Given the description of an element on the screen output the (x, y) to click on. 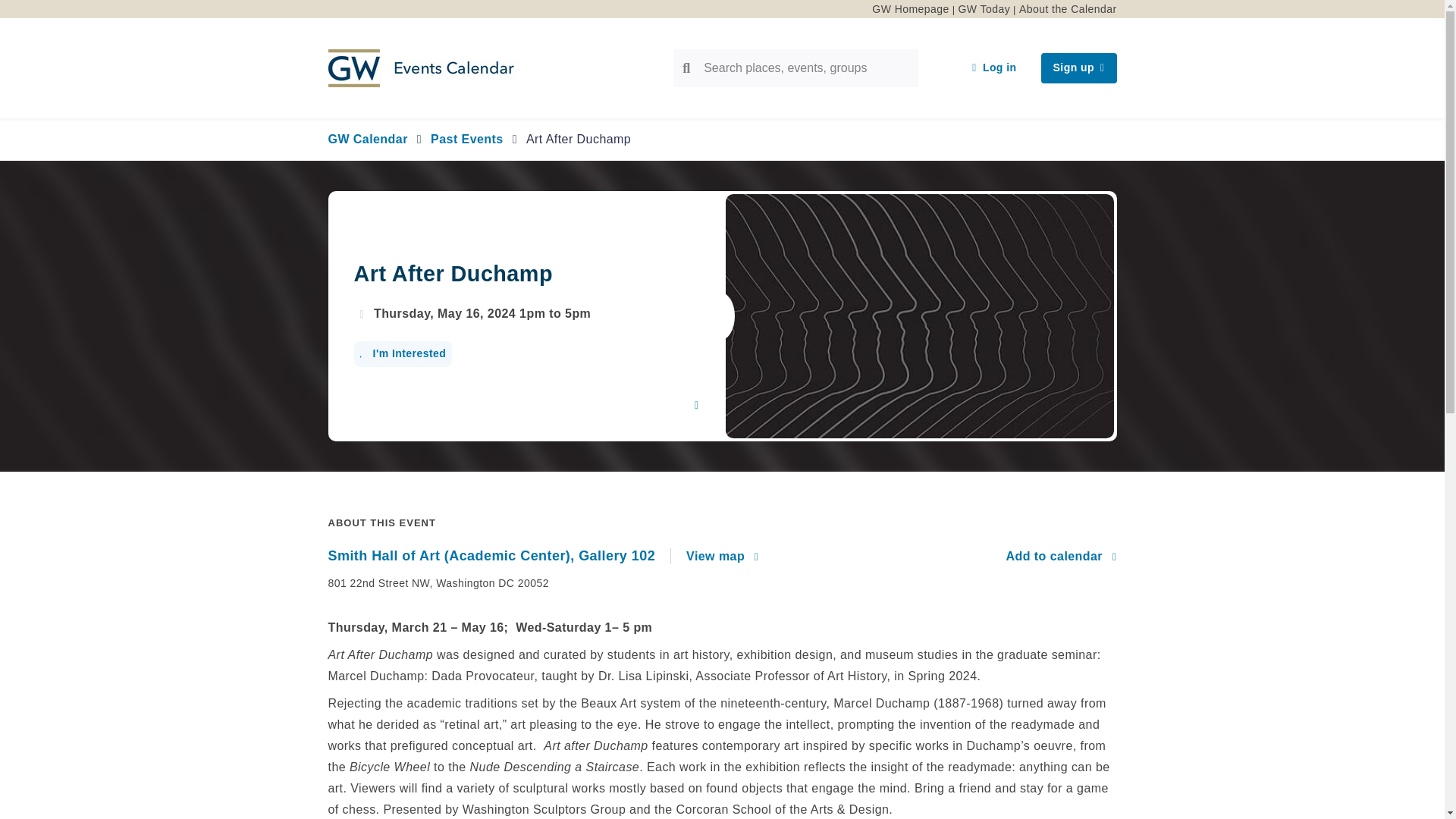
Sign up (1078, 68)
View map (721, 556)
I'm Interested (402, 353)
About the Calendar (1067, 9)
GW Homepage (910, 9)
Past Events (466, 138)
GW Today (984, 9)
Log in (993, 68)
GW Calendar (367, 138)
Add to calendar (1061, 556)
